Given the description of an element on the screen output the (x, y) to click on. 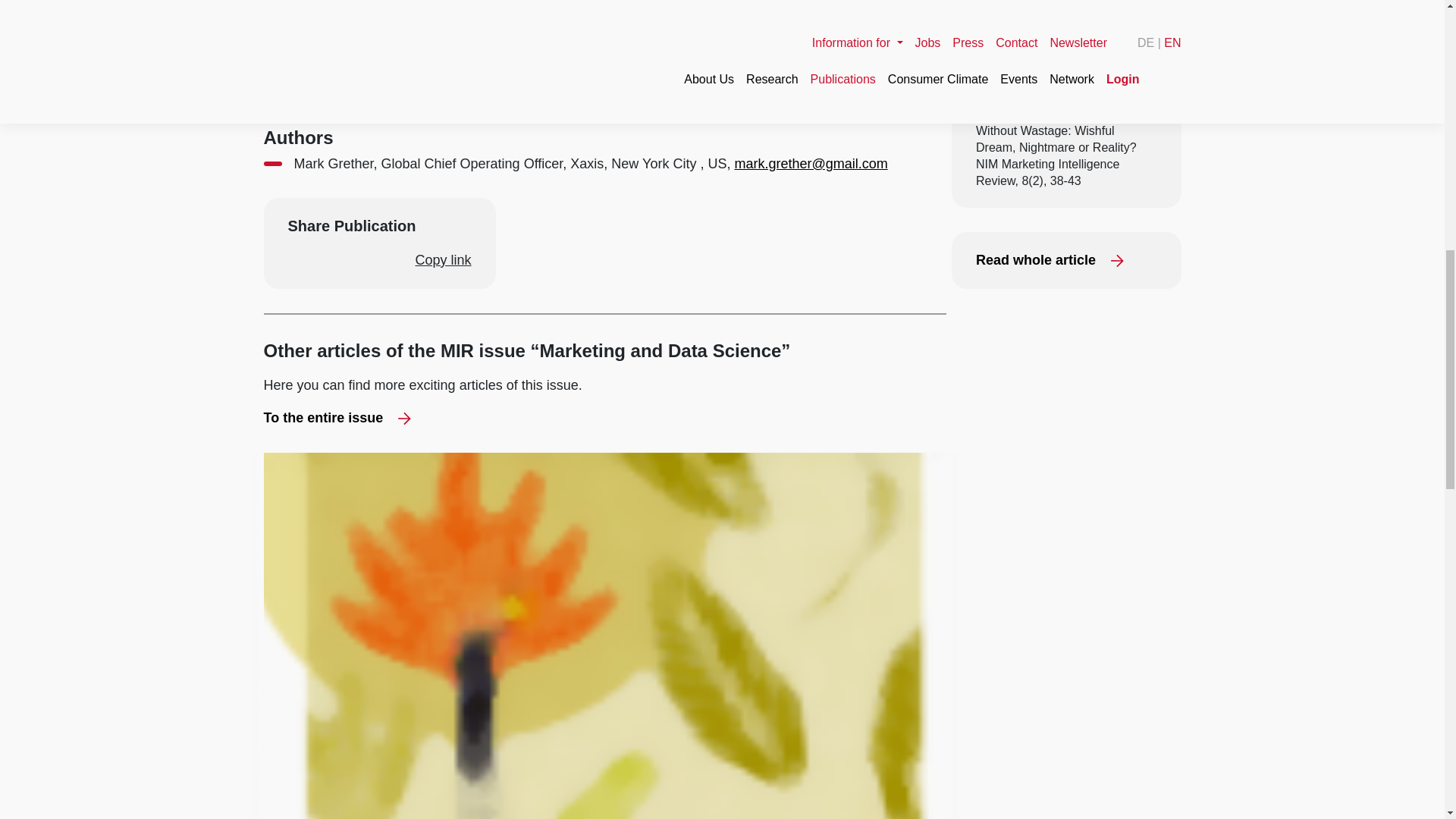
Share by Email (382, 259)
